Given the description of an element on the screen output the (x, y) to click on. 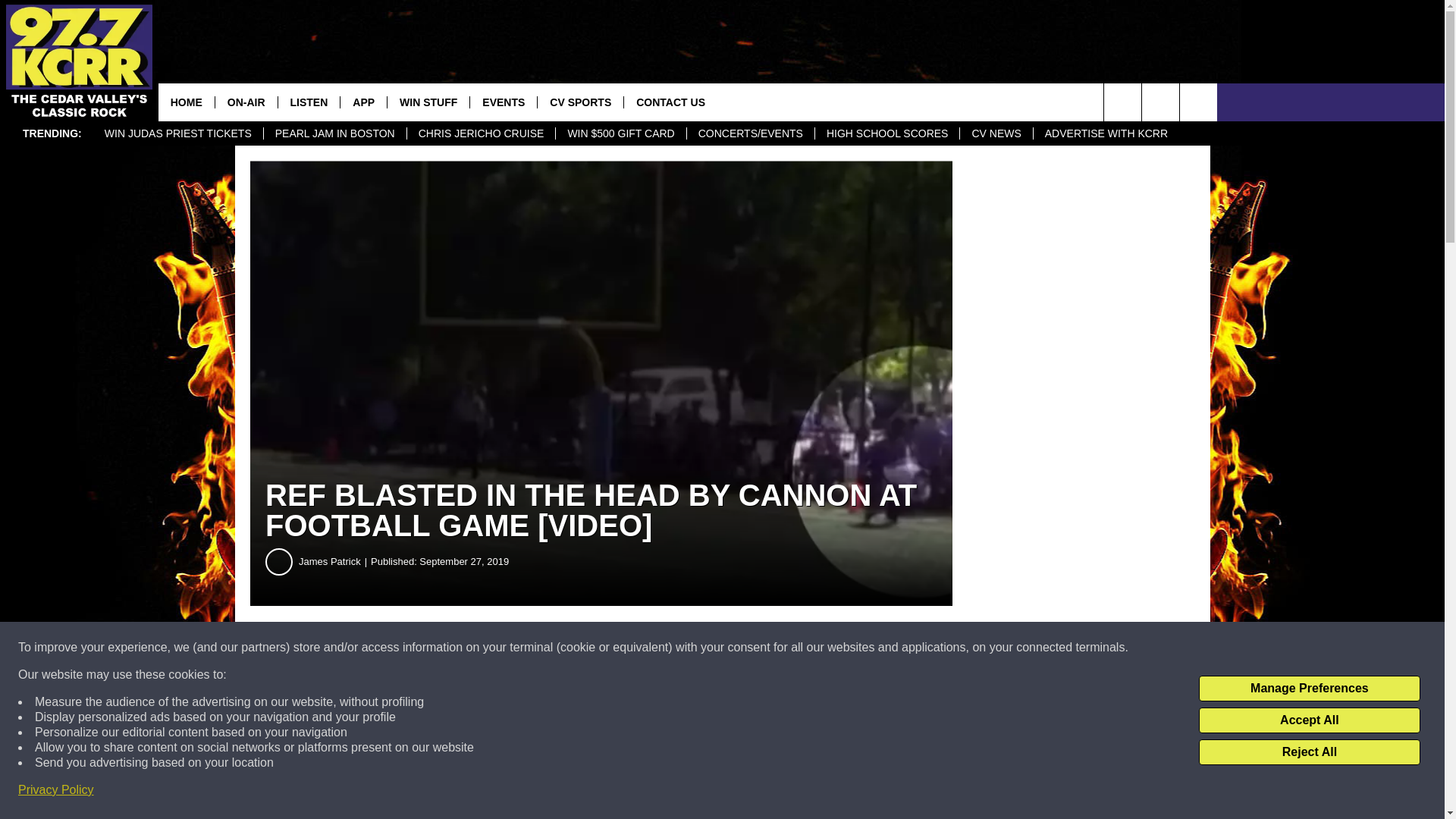
CHRIS JERICHO CRUISE (481, 133)
Manage Preferences (1309, 688)
TRENDING: (52, 133)
CV NEWS (995, 133)
WIN JUDAS PRIEST TICKETS (178, 133)
Privacy Policy (55, 789)
WIN STUFF (427, 102)
APP (363, 102)
Share on Facebook (460, 647)
ADVERTISE WITH KCRR (1105, 133)
